Given the description of an element on the screen output the (x, y) to click on. 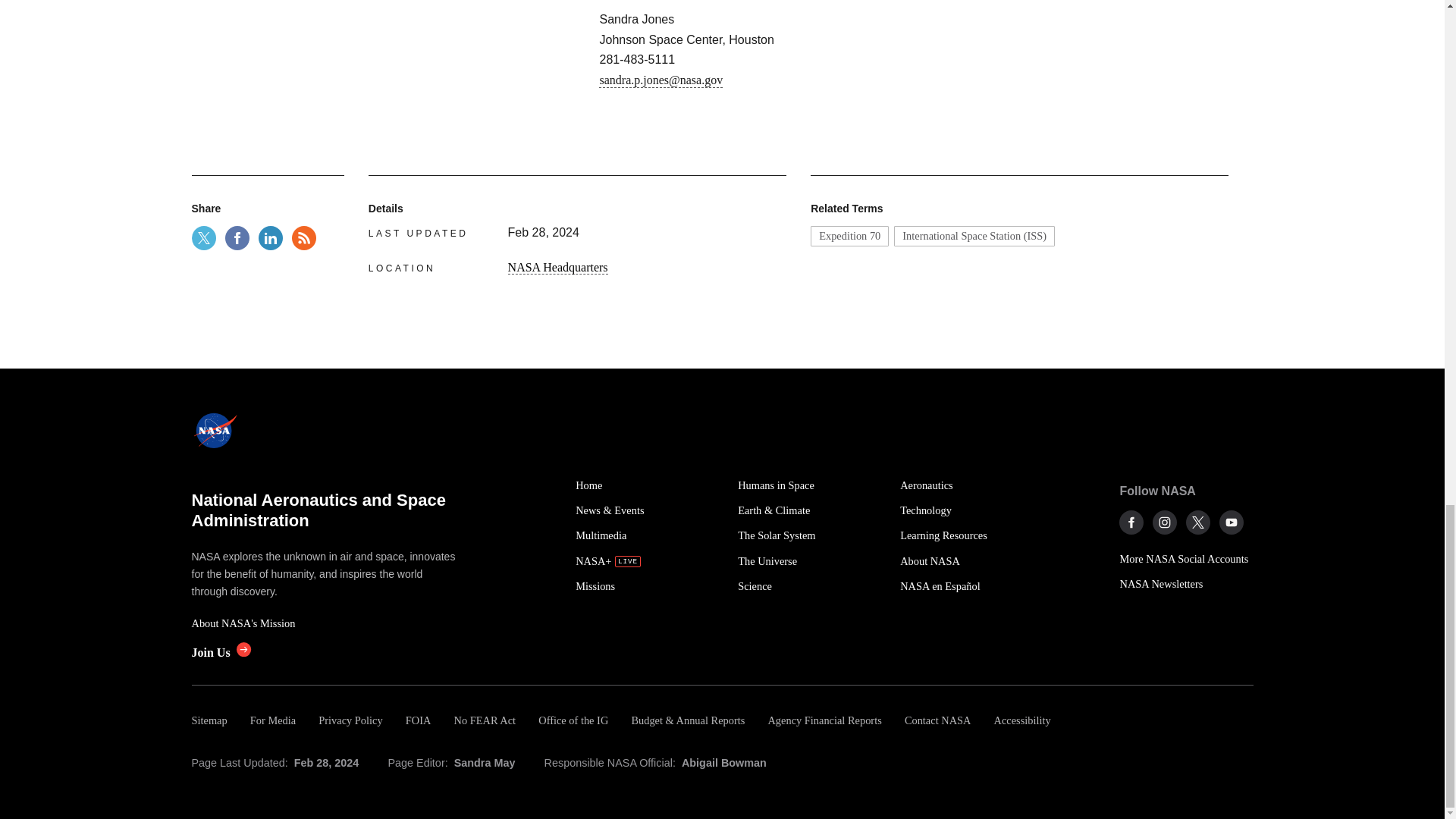
NASA Headquarters (558, 267)
NASA on Facebook (1130, 522)
NASA on Instagram (1164, 522)
NASA on X (1197, 522)
NASA on YouTube (1231, 522)
Expedition 70 (849, 235)
About NASA's Mission (324, 623)
